Given the description of an element on the screen output the (x, y) to click on. 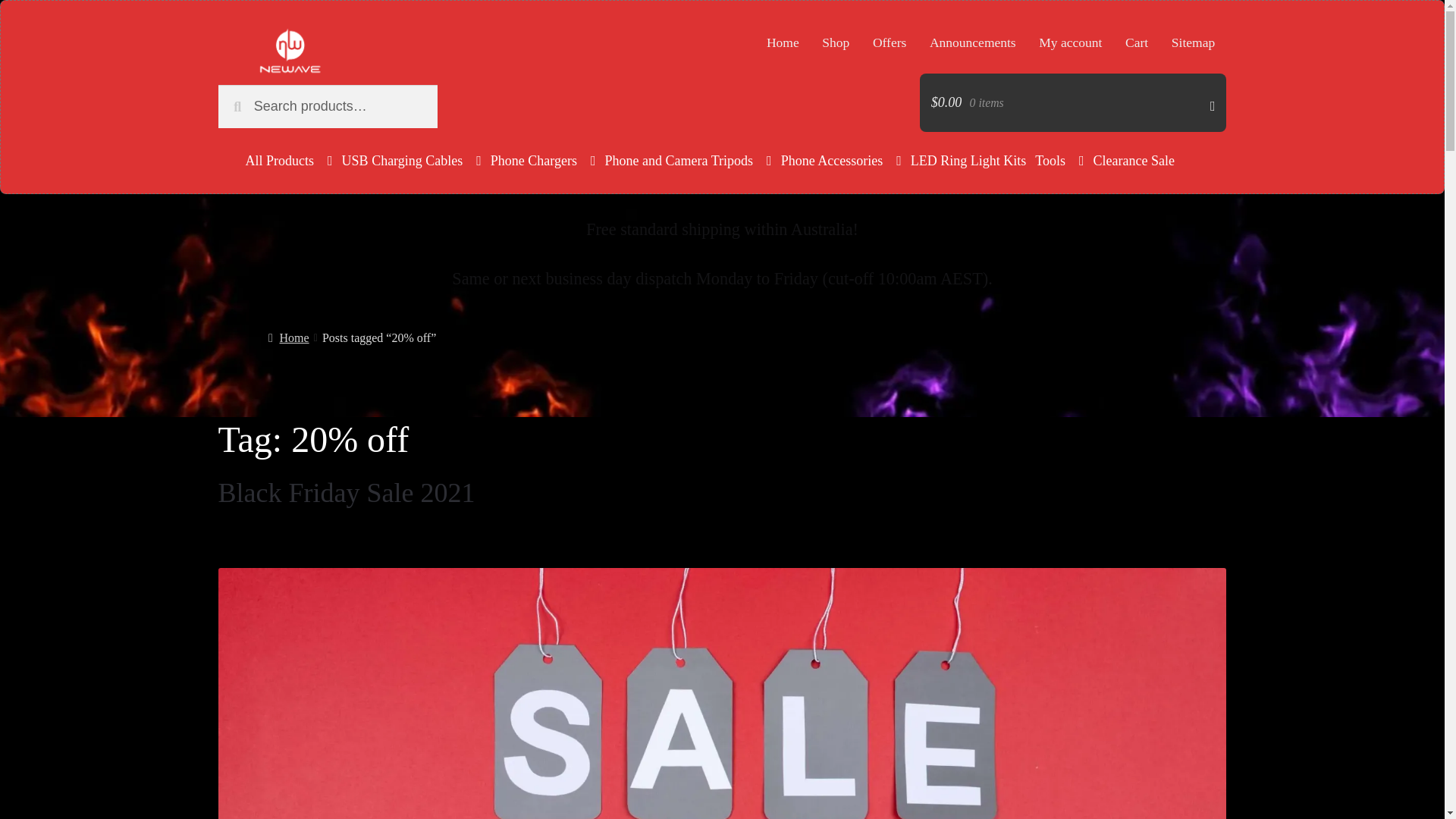
USB Charging Cables (411, 160)
All Products (289, 160)
Phone Chargers (542, 160)
Home (782, 42)
My account (1070, 42)
View your shopping cart (1073, 102)
Tools (1059, 160)
Announcements (972, 42)
Shop (835, 42)
Cart (1136, 42)
Sitemap (1193, 42)
Phone and Camera Tripods (688, 160)
Phone Accessories (840, 160)
